Given the description of an element on the screen output the (x, y) to click on. 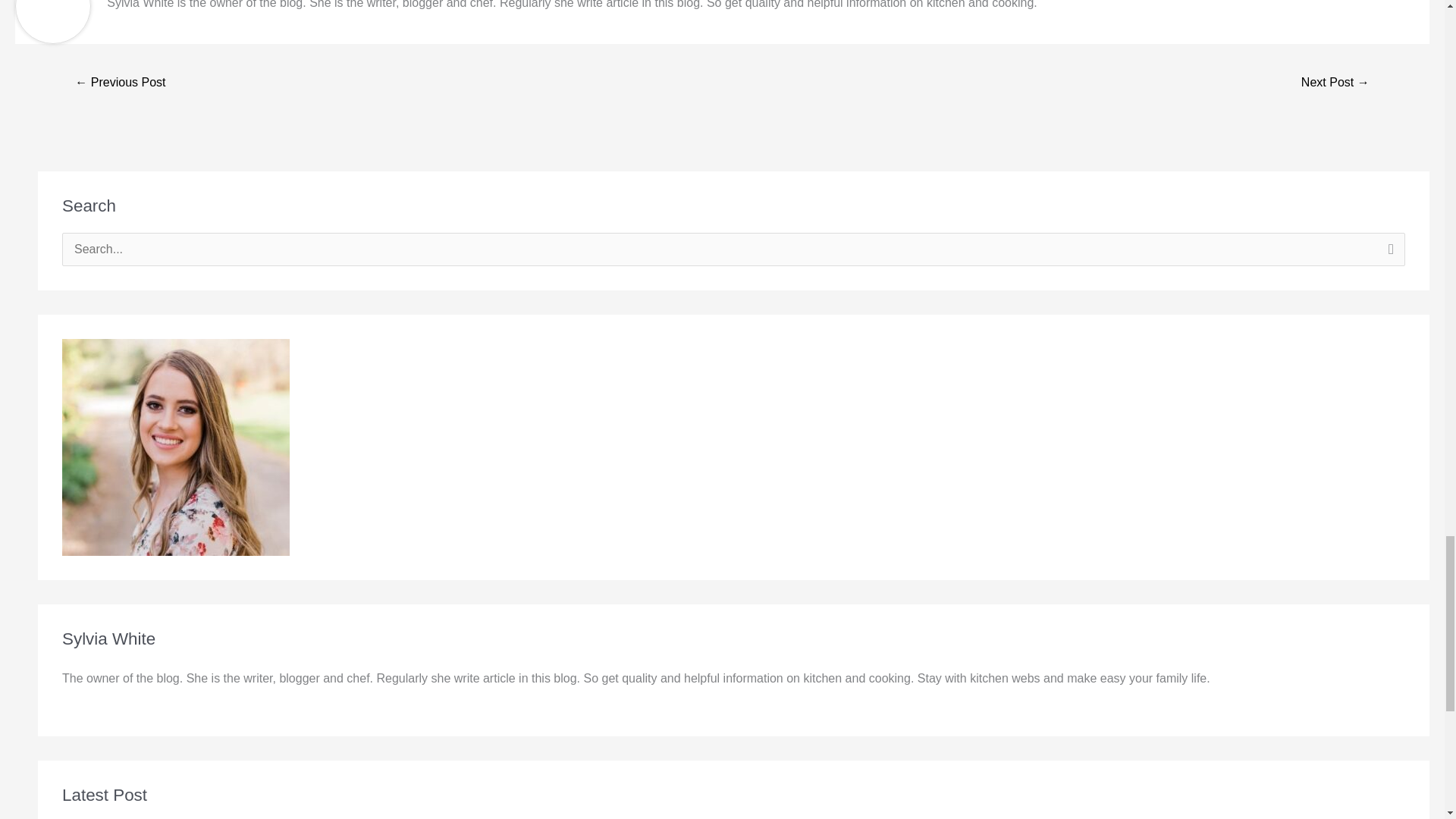
Search (1388, 253)
Can A Mini Fridge Lay On Its Side (1334, 83)
Why Is My Mini Fridge So Loud? (119, 83)
Search (1388, 253)
Search (1388, 253)
